Given the description of an element on the screen output the (x, y) to click on. 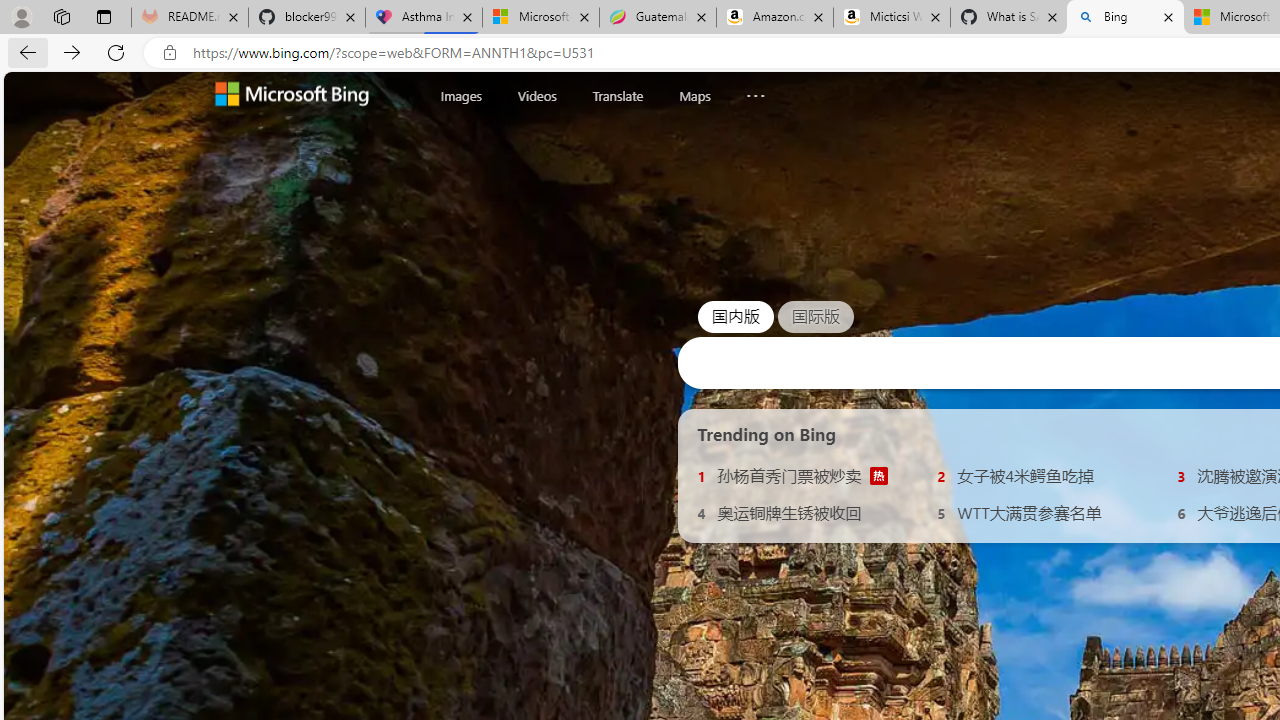
Maps (694, 95)
Videos (536, 95)
Trending on Bing (767, 434)
Welcome to Bing Search (291, 96)
Translate (617, 95)
